Given the description of an element on the screen output the (x, y) to click on. 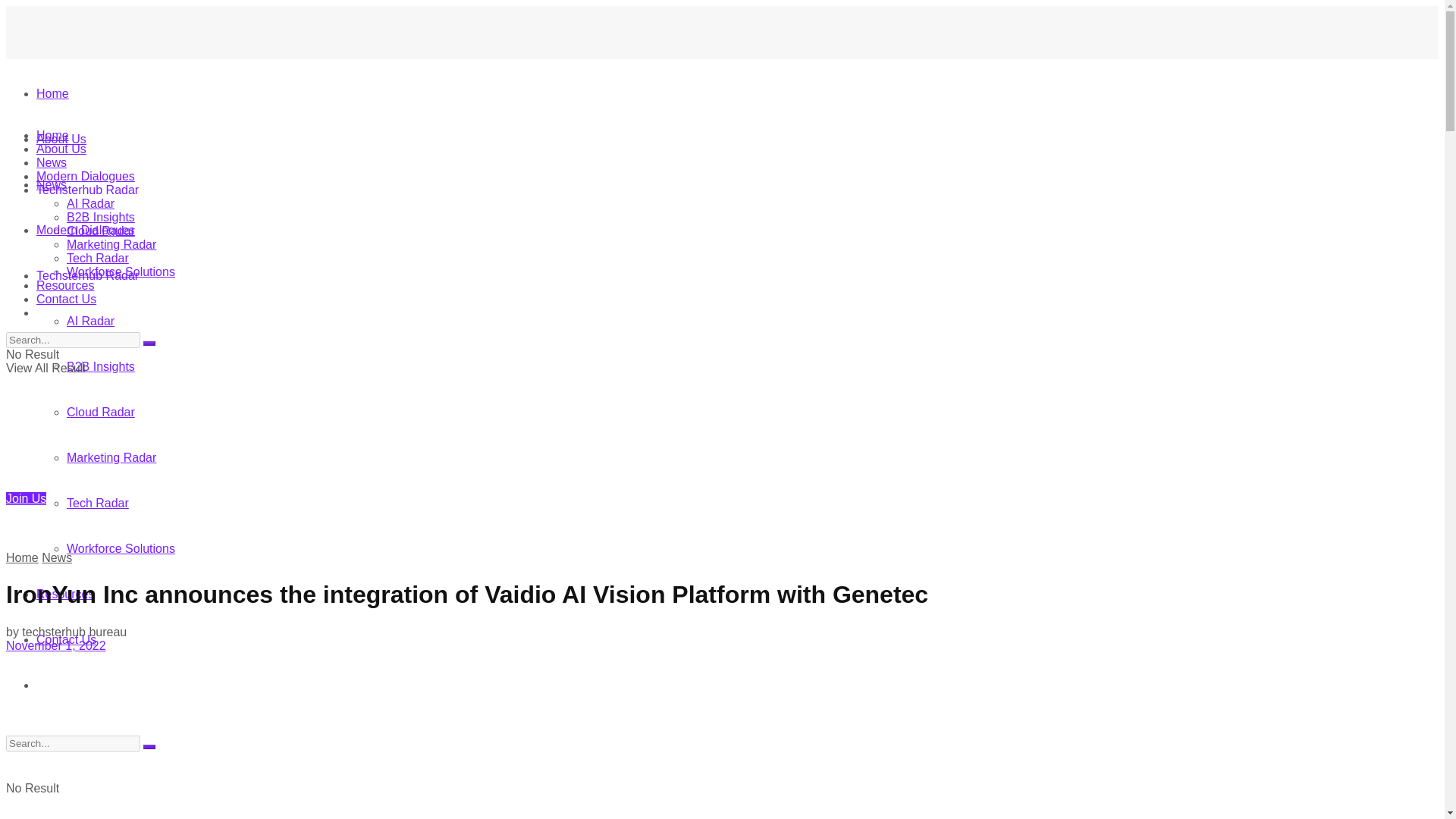
Workforce Solutions (120, 548)
techsterhub bureau (73, 631)
About Us (60, 148)
Workforce Solutions (120, 271)
Home (52, 134)
Tech Radar (97, 257)
Techsterhub Radar (87, 189)
News (56, 557)
Marketing Radar (110, 457)
Modern Dialogues (85, 175)
Contact Us (66, 639)
November 1, 2022 (55, 645)
About Us (60, 138)
Home (22, 557)
Marketing Radar (110, 244)
